Given the description of an element on the screen output the (x, y) to click on. 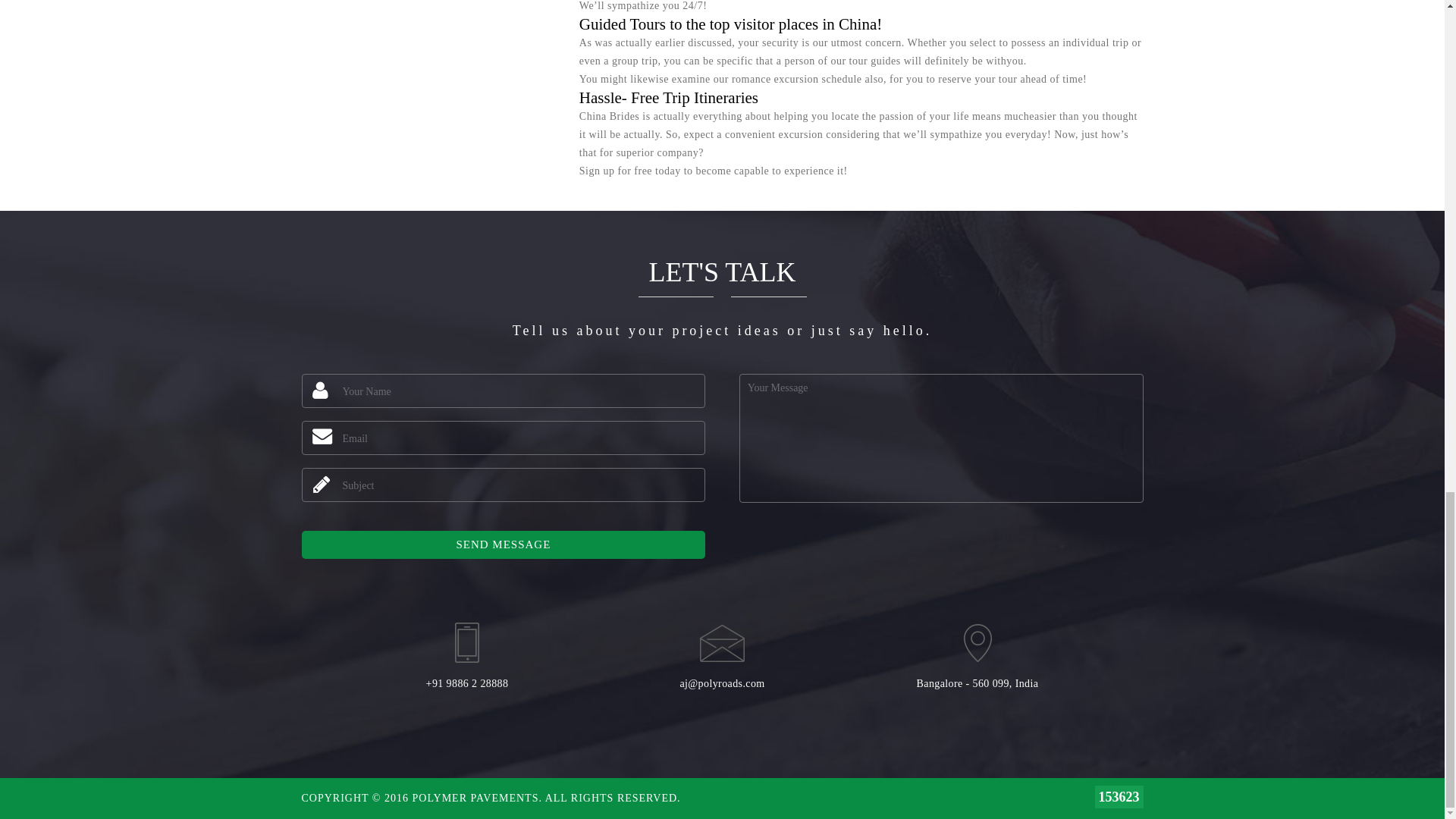
Send Message (503, 544)
Send Message (503, 544)
